Given the description of an element on the screen output the (x, y) to click on. 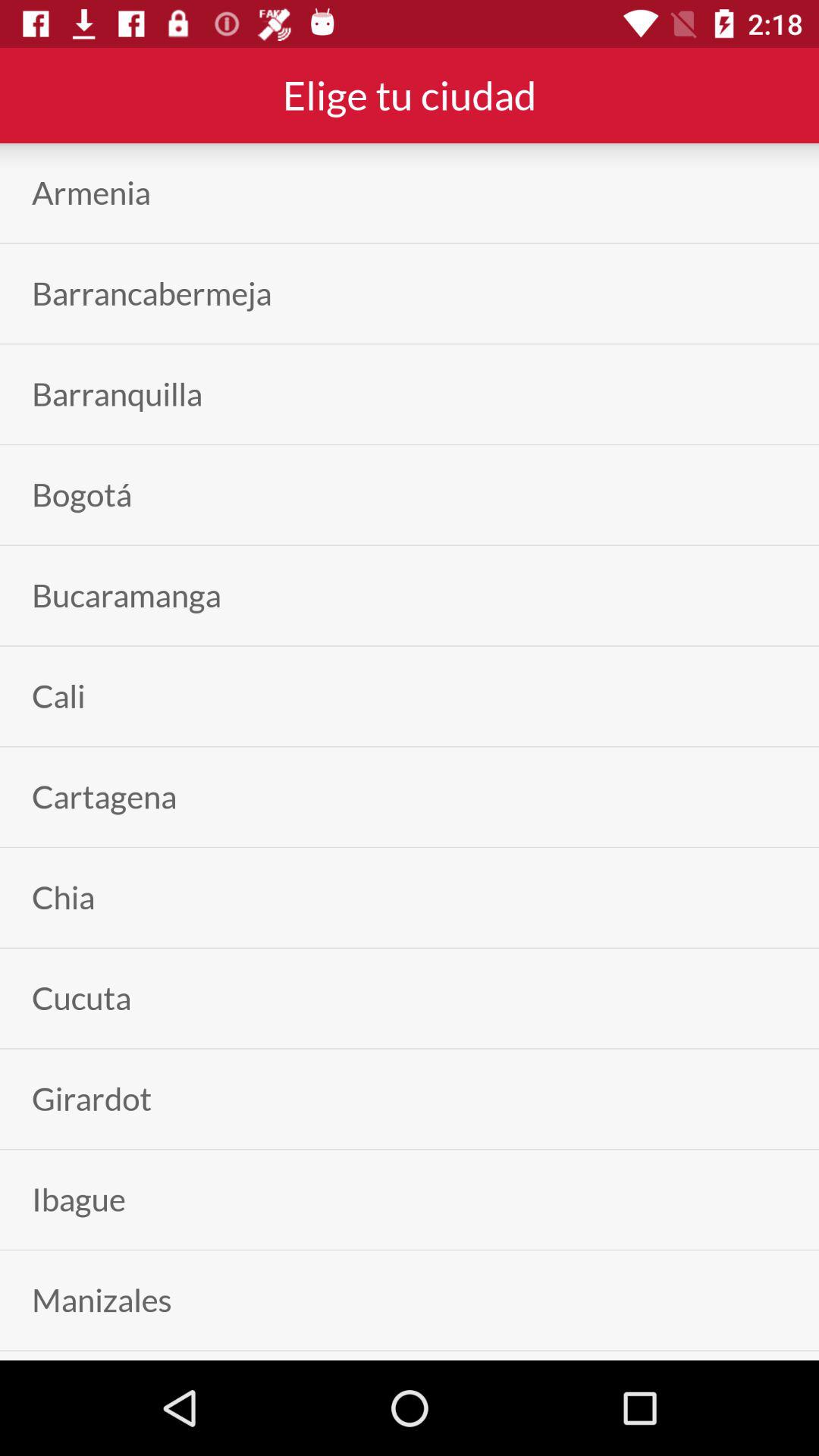
swipe to cali icon (58, 696)
